Given the description of an element on the screen output the (x, y) to click on. 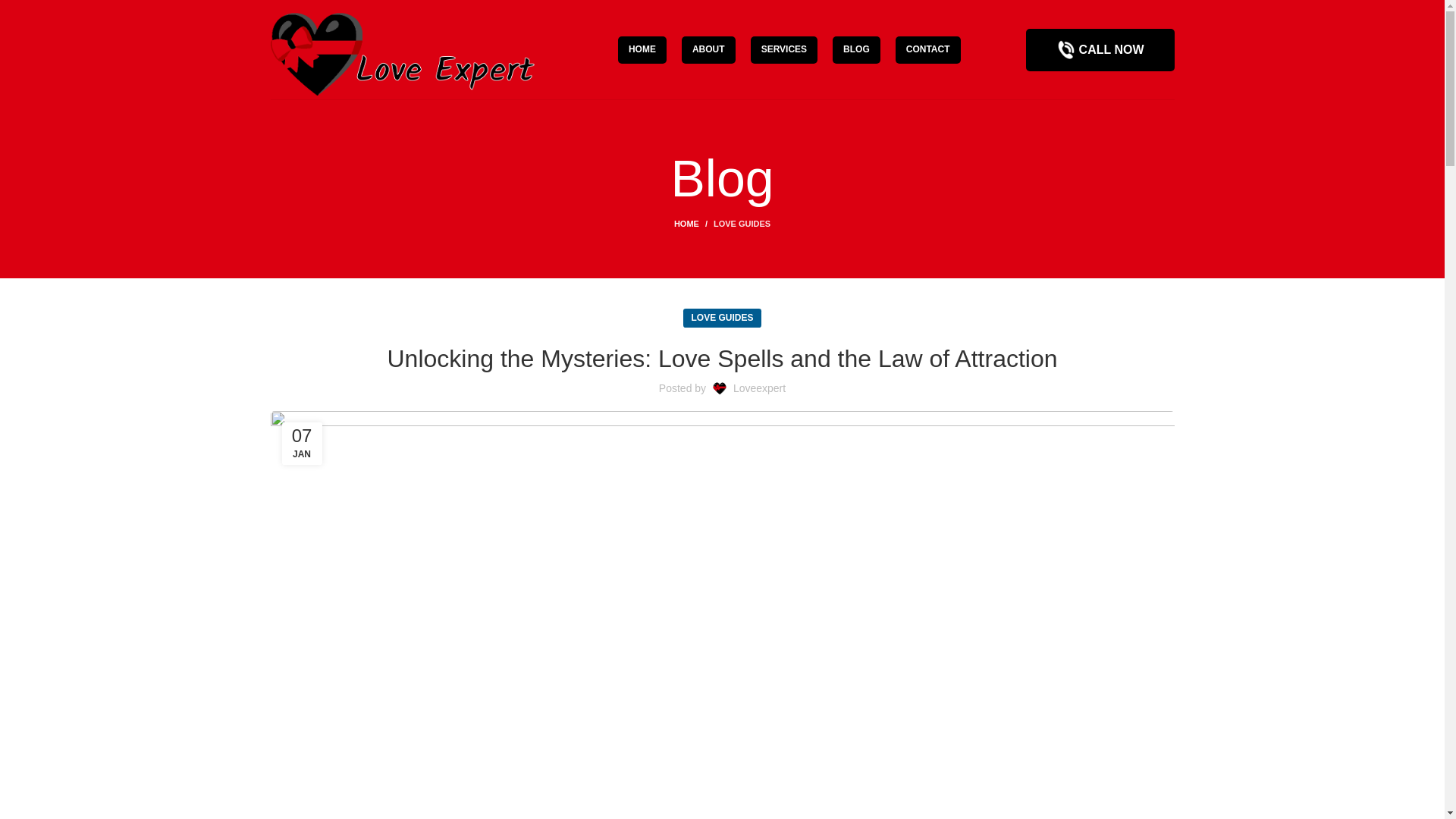
LOVE GUIDES (741, 223)
CONTACT (927, 49)
SERVICES (783, 49)
Loveexpert (759, 387)
CALL NOW (1100, 49)
BLOG (856, 49)
LOVE GUIDES (721, 317)
ABOUT (708, 49)
HOME (693, 223)
HOME (641, 49)
